Given the description of an element on the screen output the (x, y) to click on. 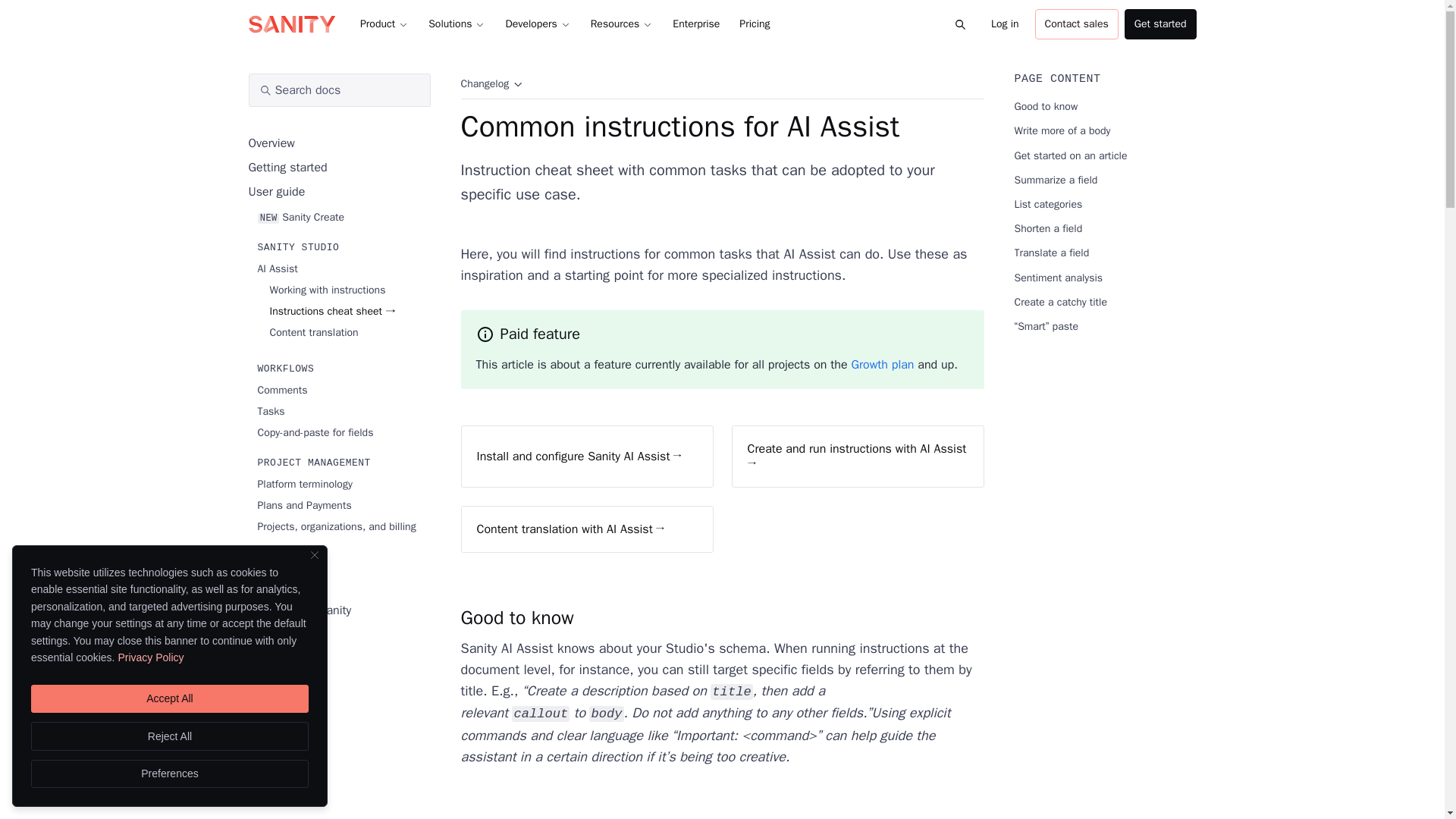
Developers (537, 24)
Solutions (457, 24)
Product (384, 24)
